Given the description of an element on the screen output the (x, y) to click on. 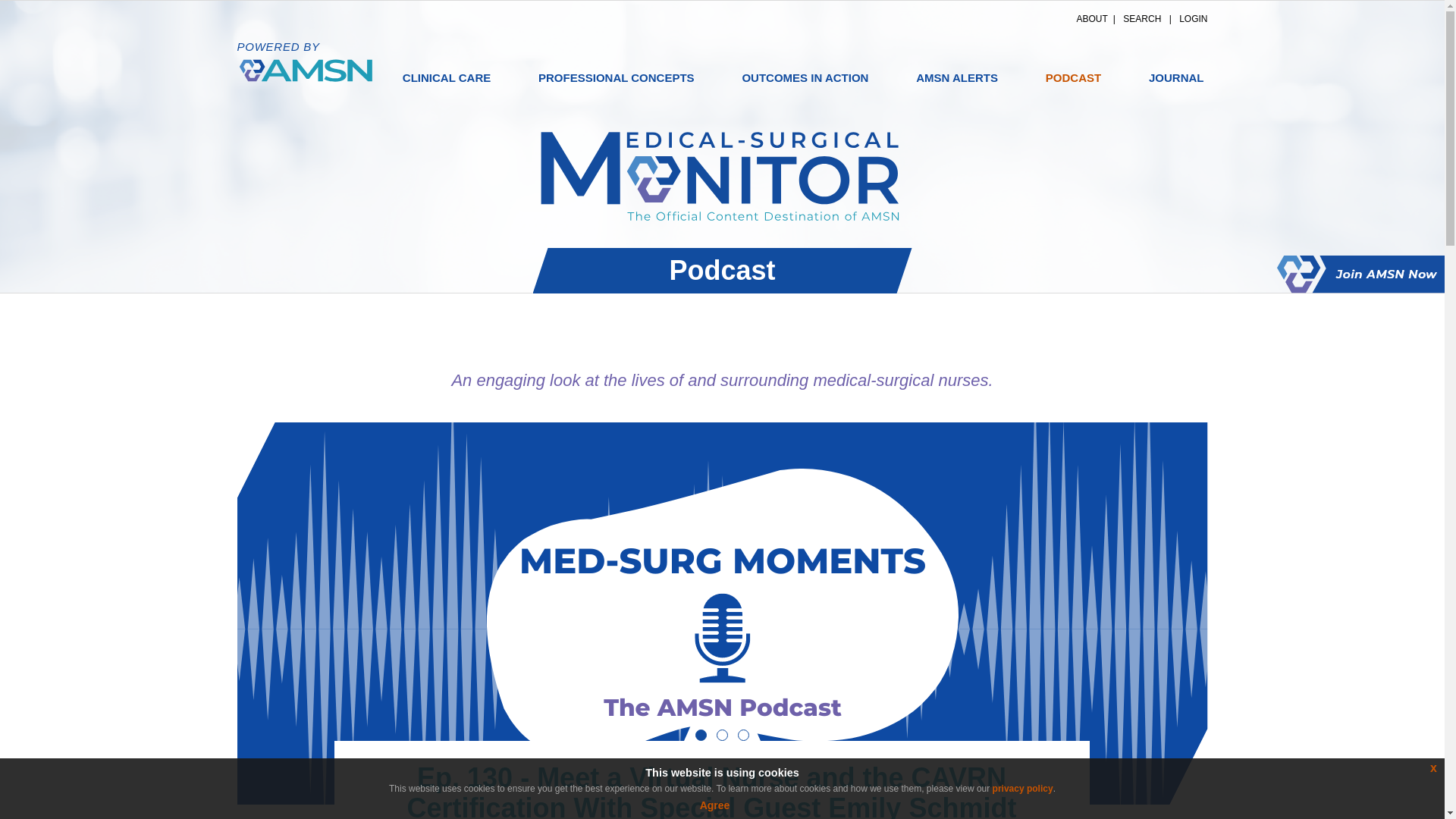
PROFESSIONAL CONCEPTS (616, 77)
ABOUT (1092, 18)
JOURNAL (1176, 77)
Podcast (1073, 77)
Professional Concepts (616, 77)
Journal (1176, 77)
AMSN ALERTS (956, 77)
AMSN Alerts (956, 77)
CLINICAL CARE (446, 77)
SEARCH (1141, 18)
PODCAST (1073, 77)
